Given the description of an element on the screen output the (x, y) to click on. 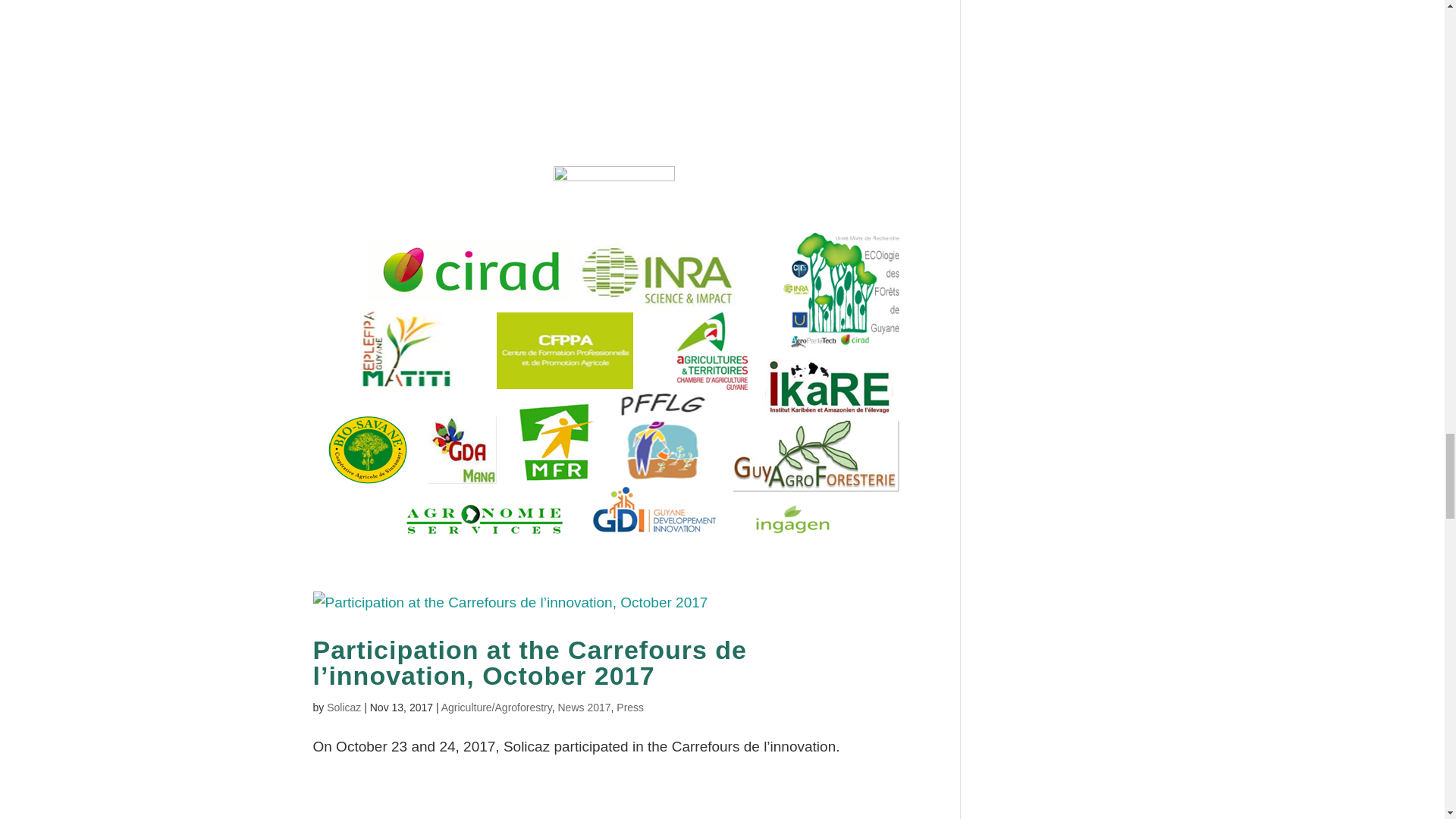
Posts by Solicaz (343, 707)
News 2017 (584, 707)
Press (629, 707)
Solicaz (343, 707)
